Given the description of an element on the screen output the (x, y) to click on. 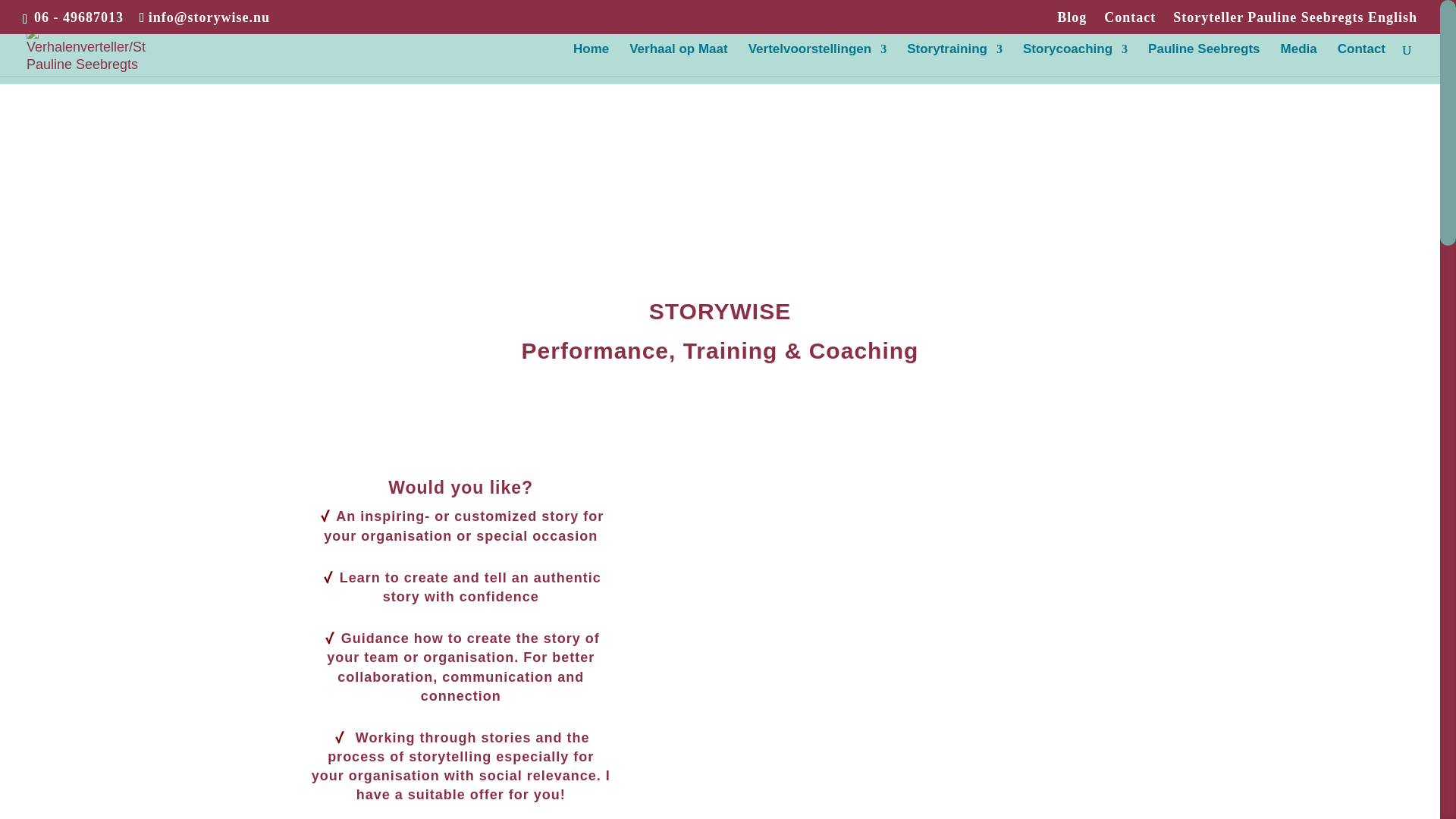
Verhaal op Maat (677, 60)
Blog (1071, 22)
Vertelvoorstellingen (817, 60)
Media (1299, 60)
Storycoaching (1074, 60)
Storytraining (955, 60)
Contact (1129, 22)
Home (590, 60)
Pauline Seebregts (1203, 60)
Storyteller Pauline Seebregts English (1294, 22)
